Given the description of an element on the screen output the (x, y) to click on. 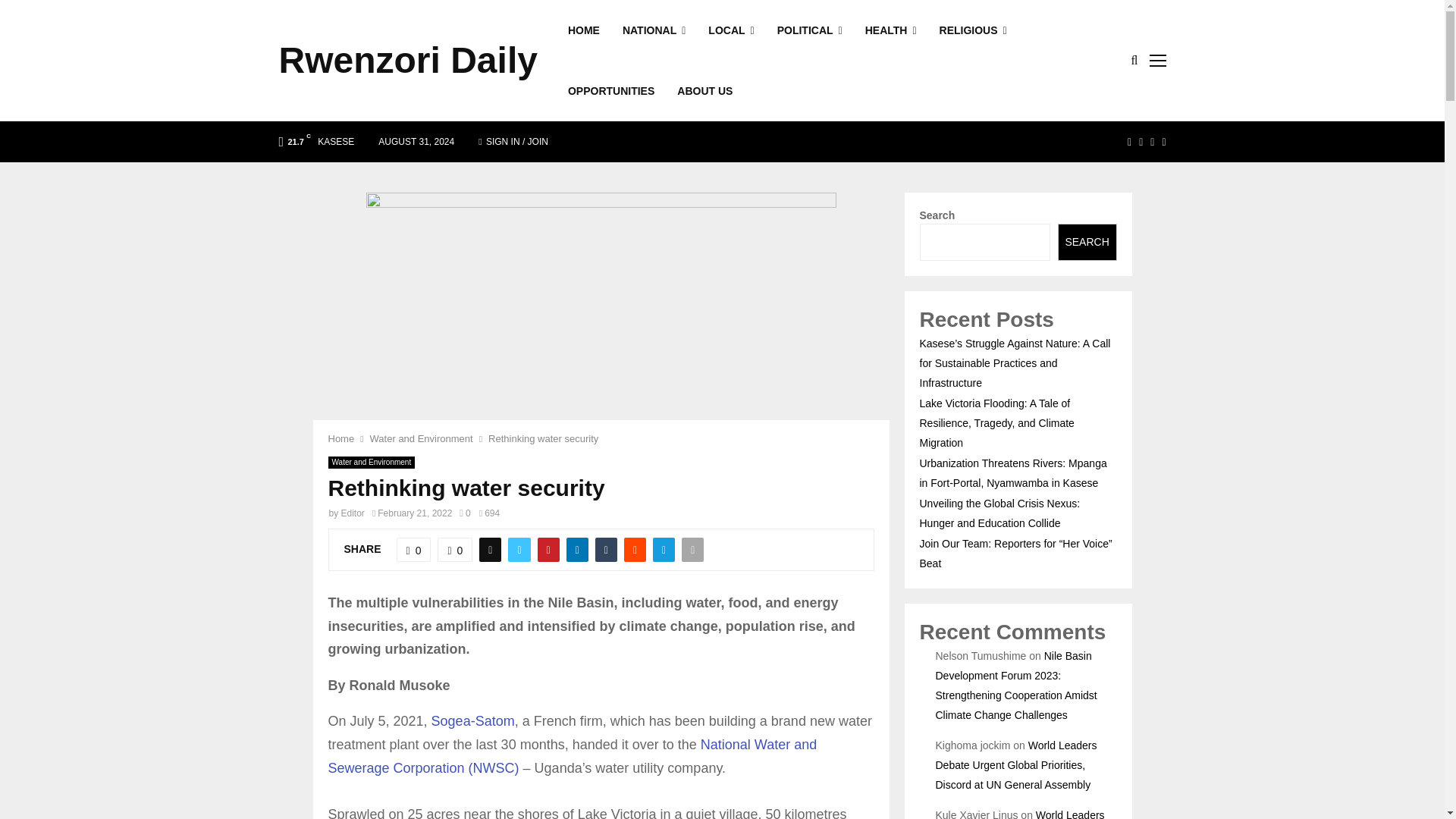
POLITICAL (810, 30)
NATIONAL (654, 30)
Rwenzori Daily (408, 60)
